Given the description of an element on the screen output the (x, y) to click on. 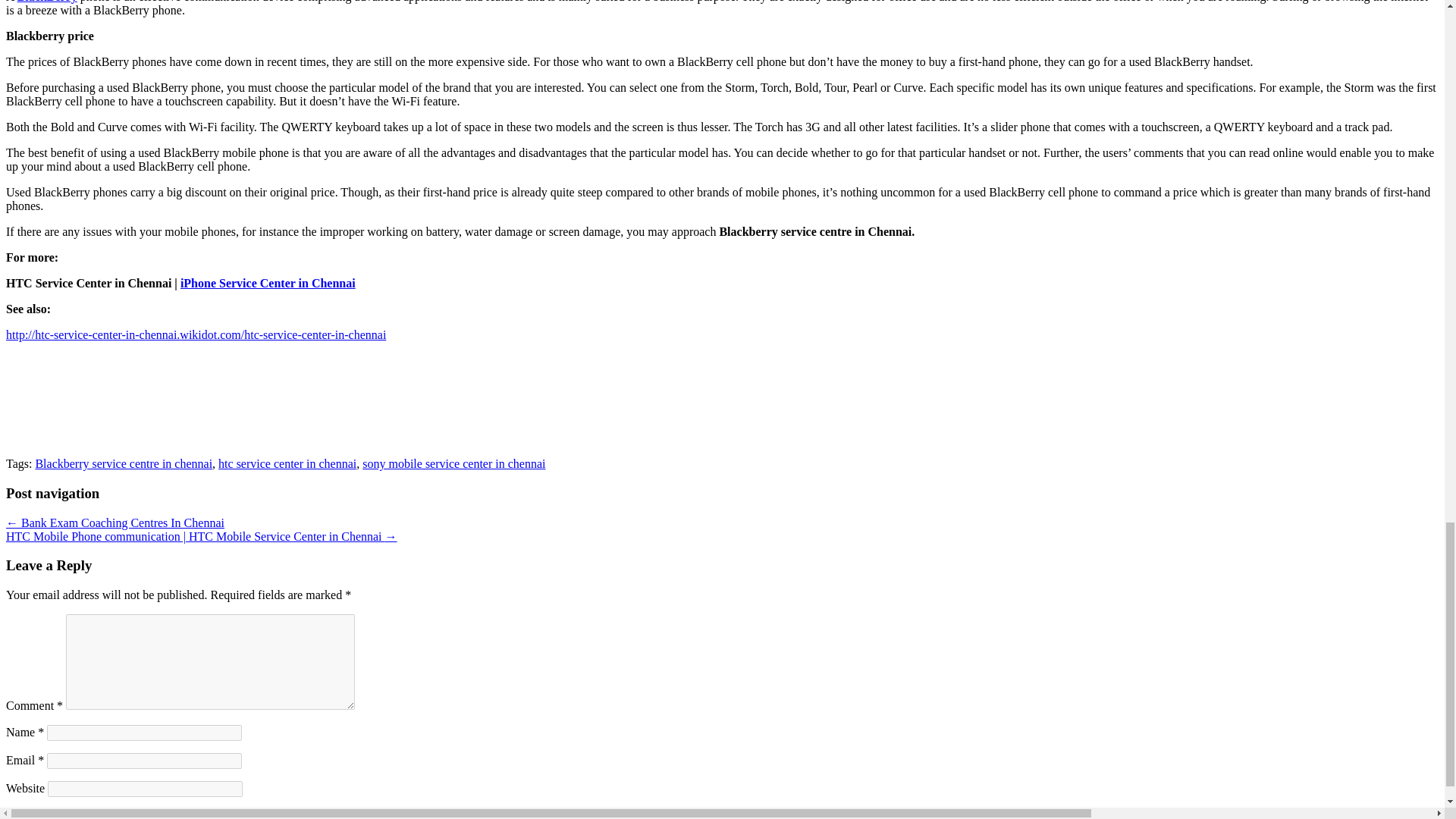
iPhone Service Center in Chennai (267, 282)
BlackBerry (47, 1)
Blackberry service centre in chennai (123, 463)
sony mobile service center in chennai (453, 463)
htc service center in chennai (287, 463)
